Given the description of an element on the screen output the (x, y) to click on. 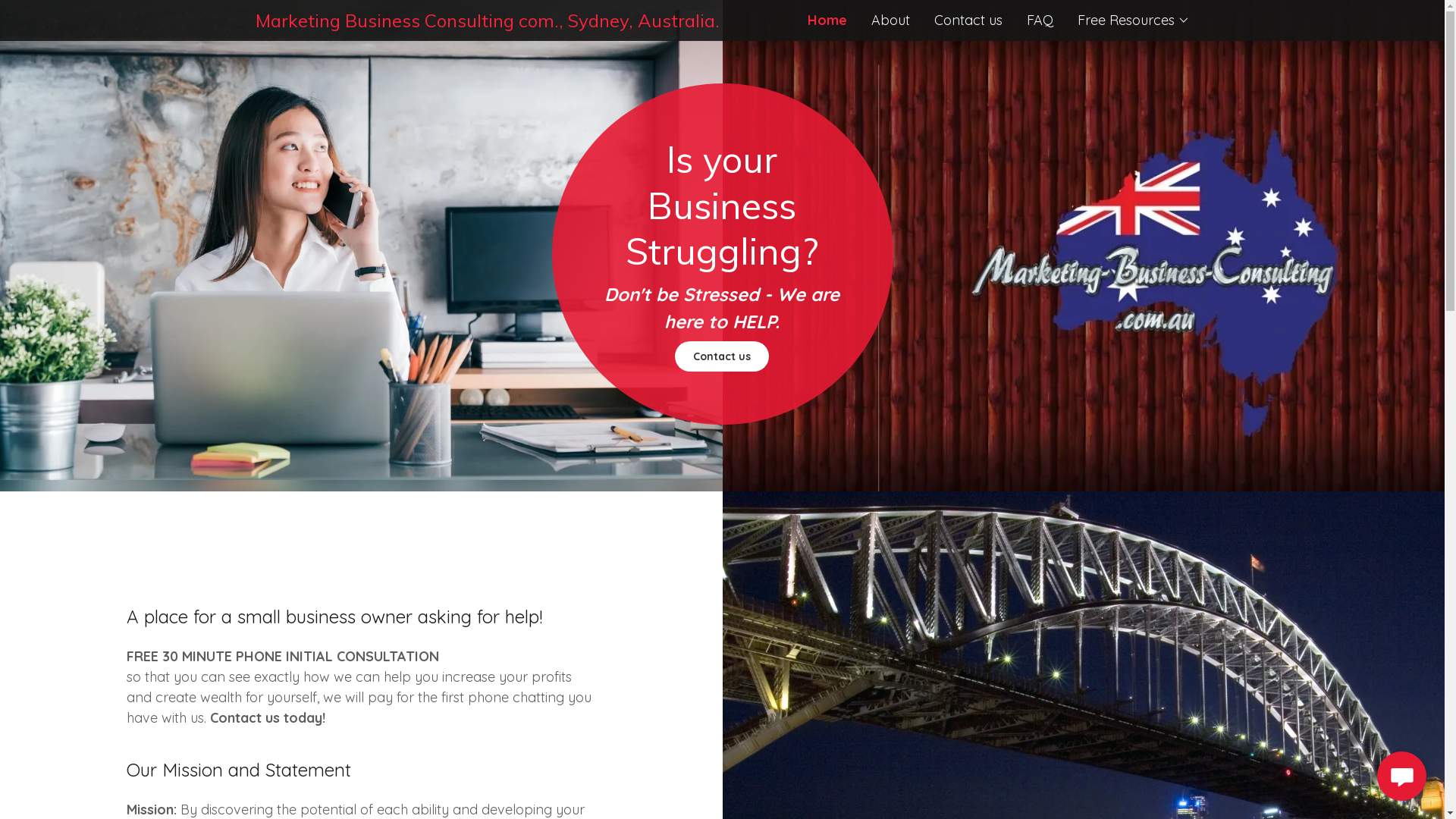
Free Resources Element type: text (1132, 20)
Home Element type: text (826, 20)
FAQ Element type: text (1039, 20)
Contact us Element type: text (721, 356)
About Element type: text (889, 20)
Contact us Element type: text (968, 20)
Marketing Business Consulting com., Sydney, Australia. Element type: text (487, 22)
